Given the description of an element on the screen output the (x, y) to click on. 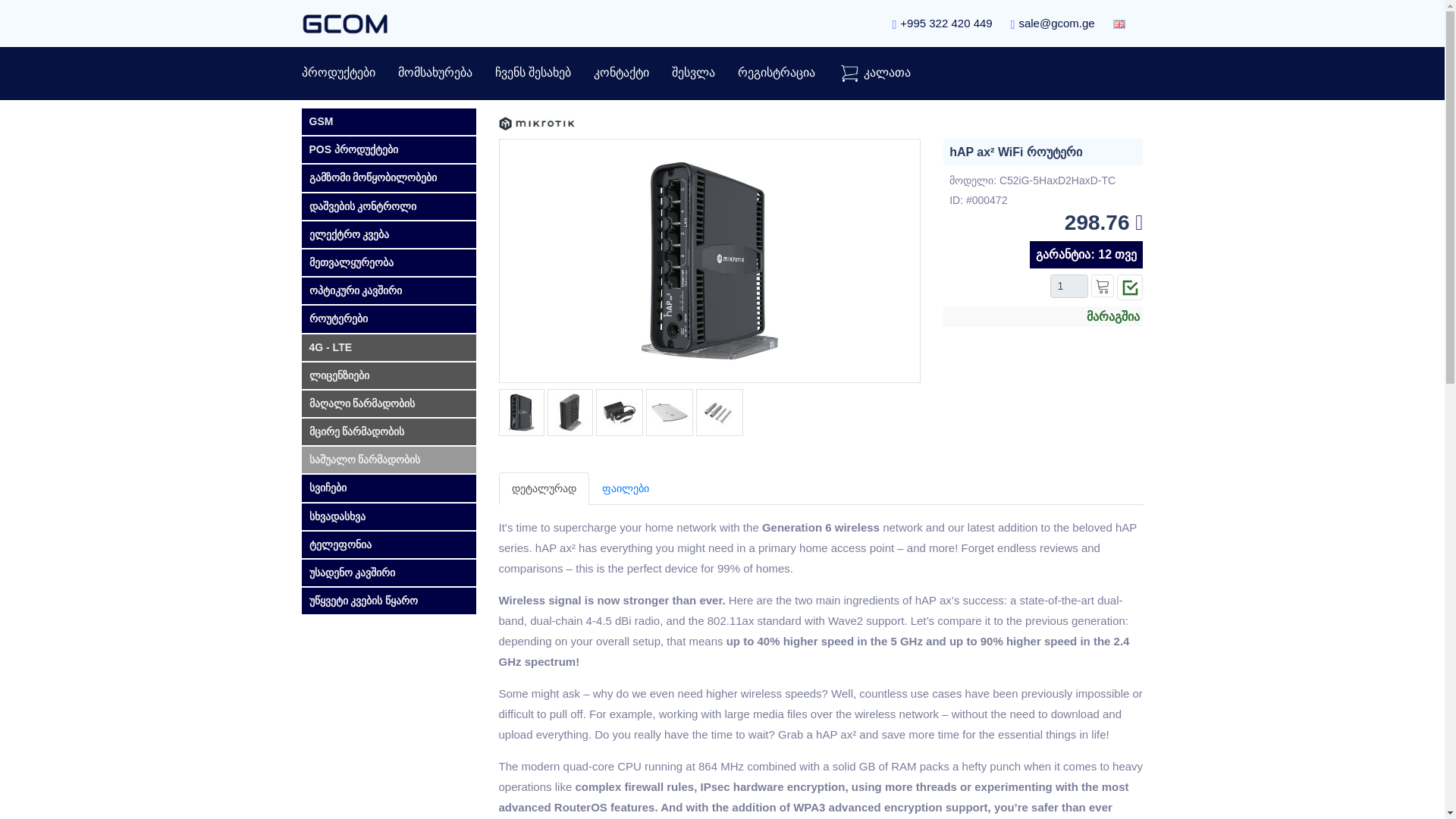
1 (1068, 286)
